Given the description of an element on the screen output the (x, y) to click on. 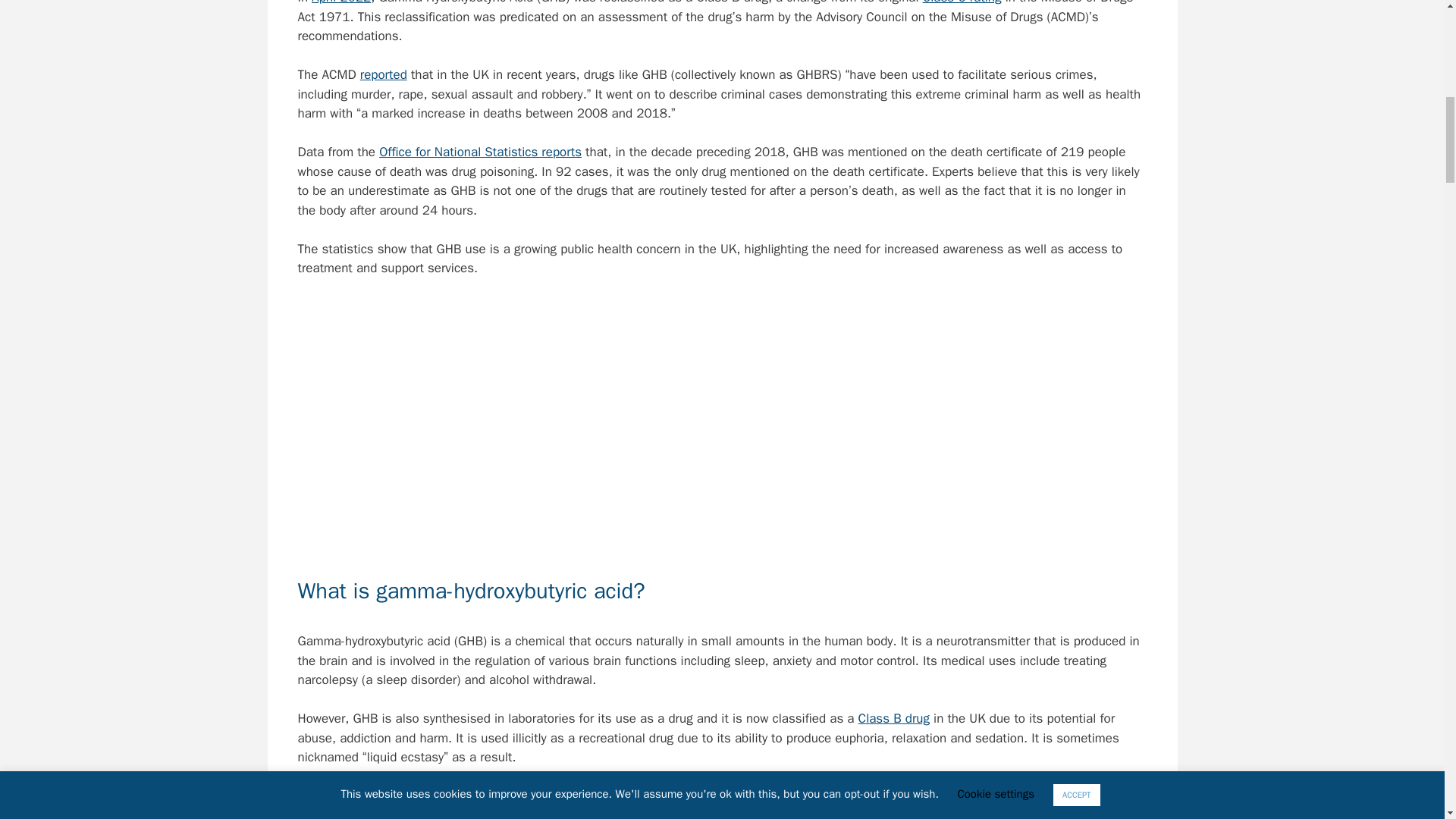
Class C rating (962, 2)
Class B drug (894, 718)
Office for National Statistics reports (479, 151)
reported (383, 74)
April 2022 (341, 2)
